Given the description of an element on the screen output the (x, y) to click on. 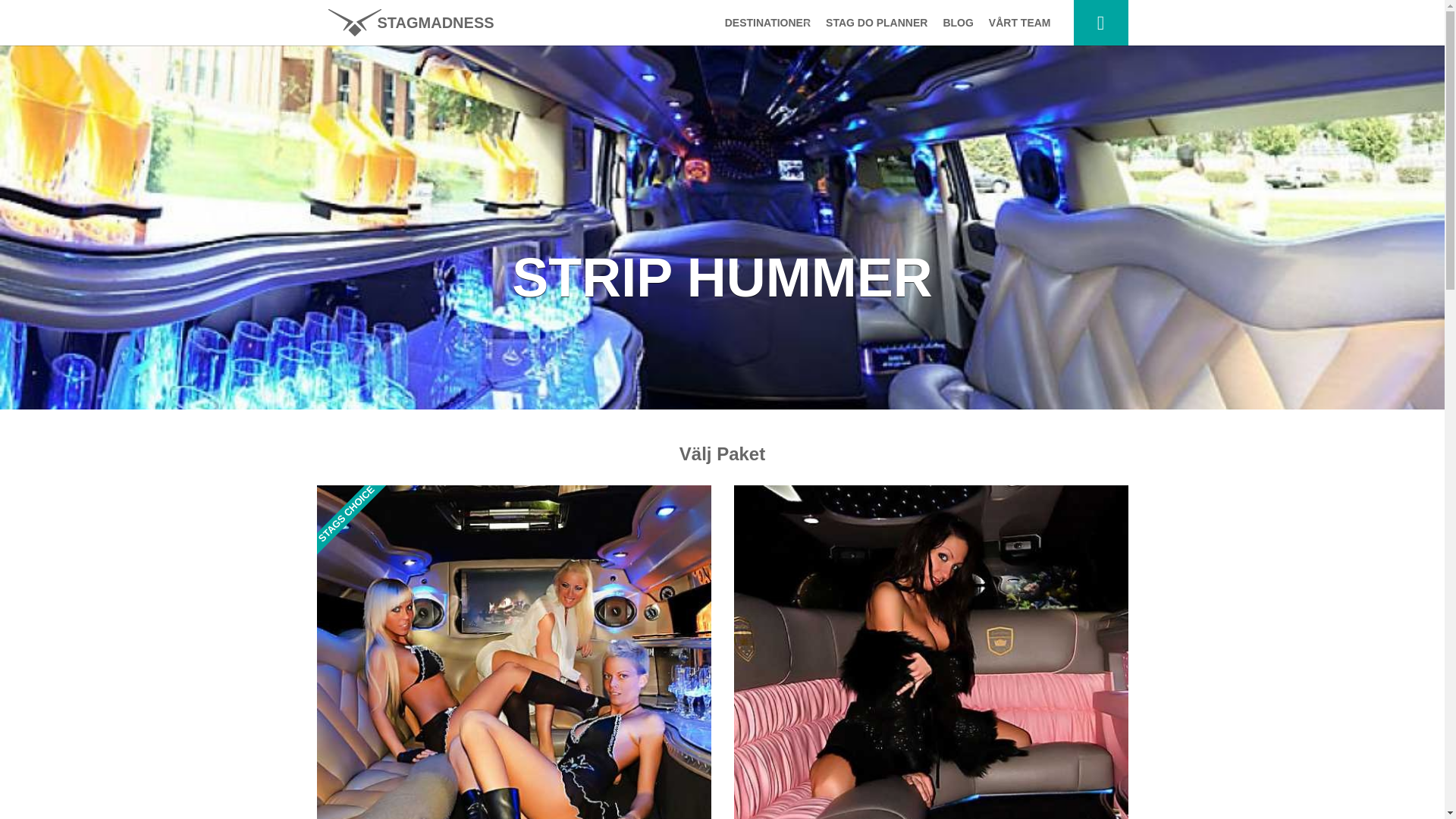
HAMBURG (764, 151)
BUDAPEST (764, 60)
STAGMADNESS (409, 22)
BERLIN (764, 242)
Brudgum Krakow (409, 22)
RIGA (764, 272)
KRAKOW (764, 212)
Our stag do organizer team in  (1019, 22)
AMSTERDAM (764, 121)
BLOG (956, 22)
